Given the description of an element on the screen output the (x, y) to click on. 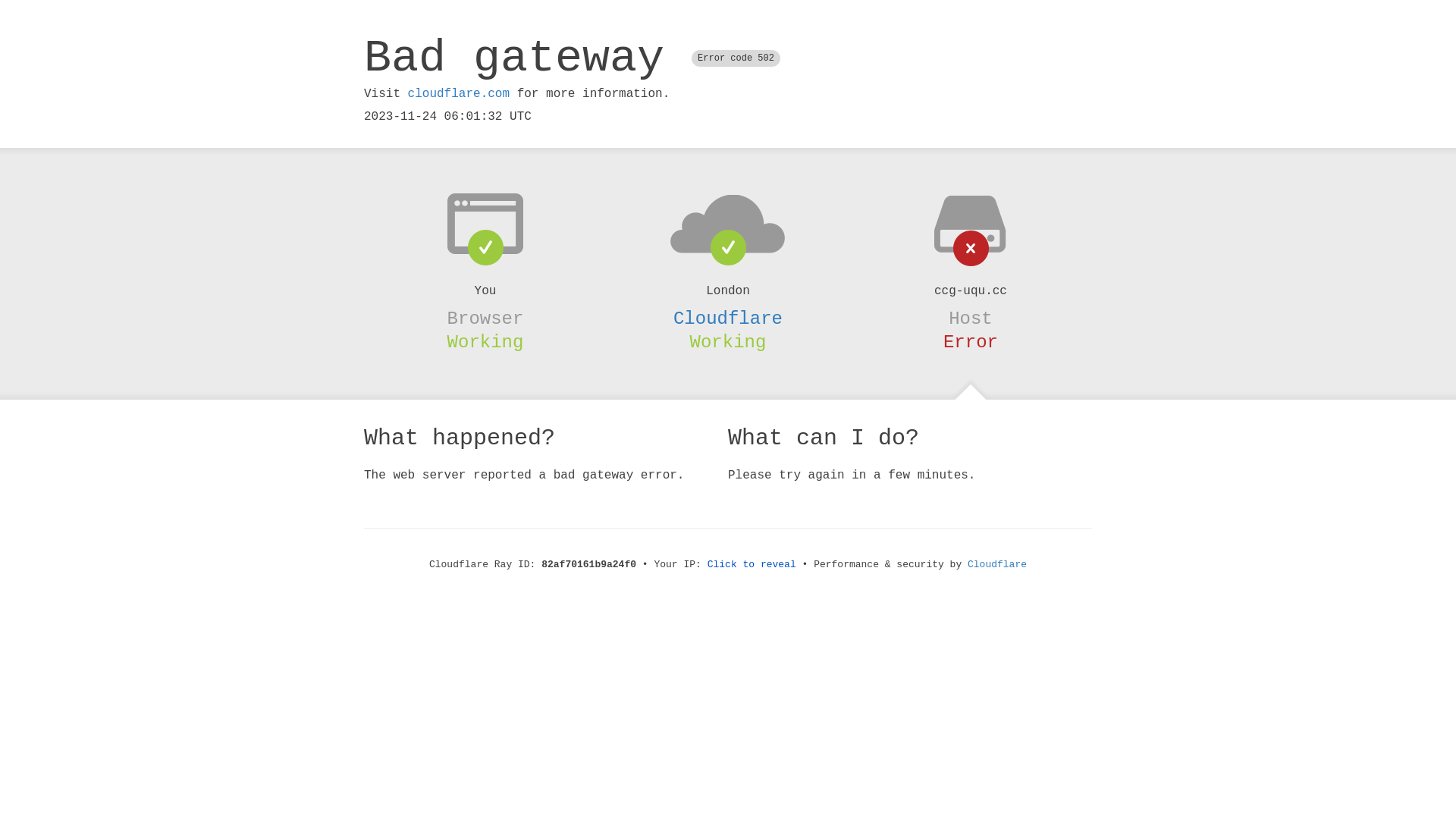
cloudflare.com Element type: text (458, 93)
Cloudflare Element type: text (727, 318)
Cloudflare Element type: text (996, 564)
Click to reveal Element type: text (751, 564)
